Given the description of an element on the screen output the (x, y) to click on. 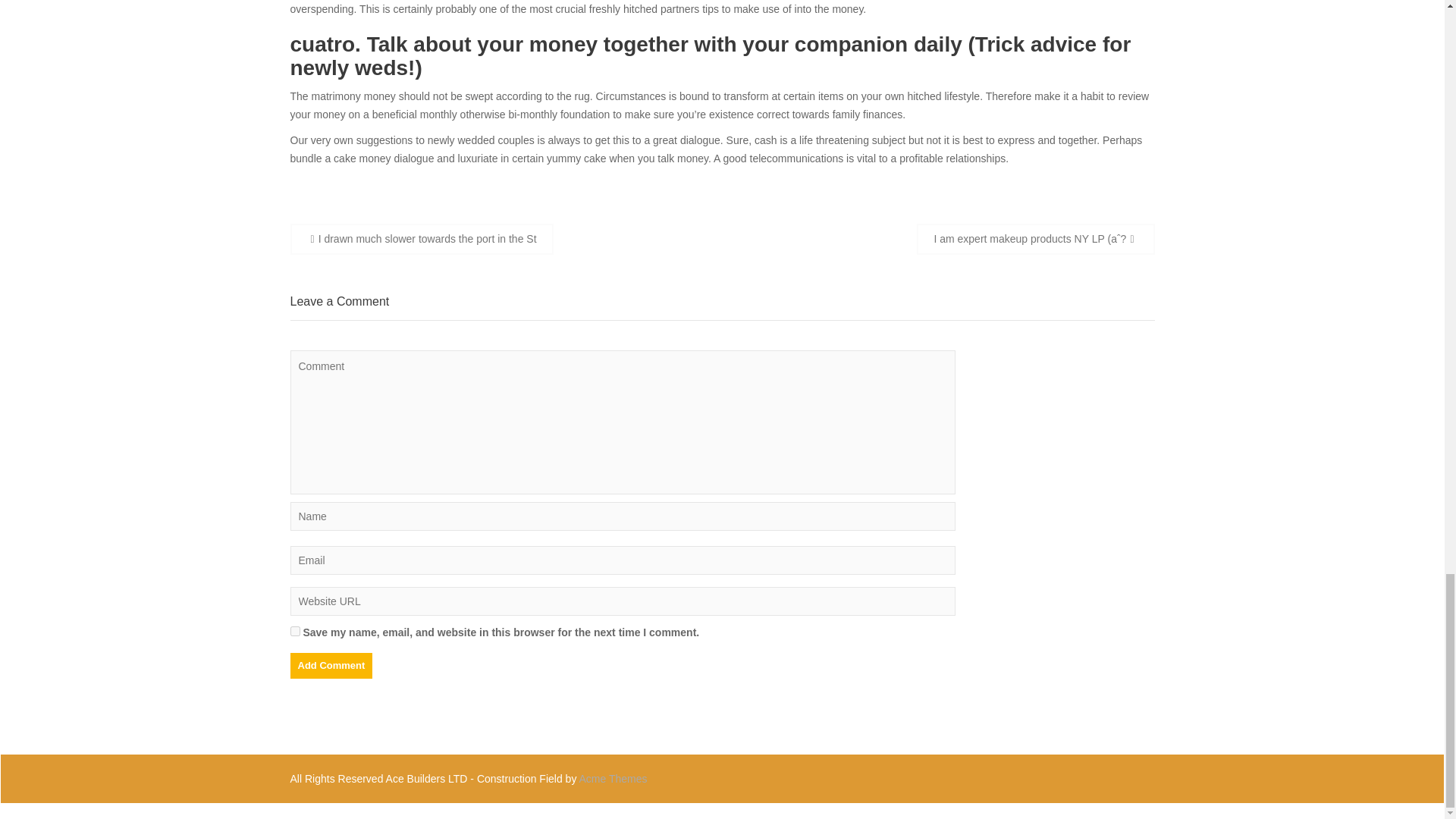
I drawn much slower towards the port in the St (421, 238)
Add Comment (330, 665)
Add Comment (330, 665)
yes (294, 631)
Acme Themes (613, 778)
